Given the description of an element on the screen output the (x, y) to click on. 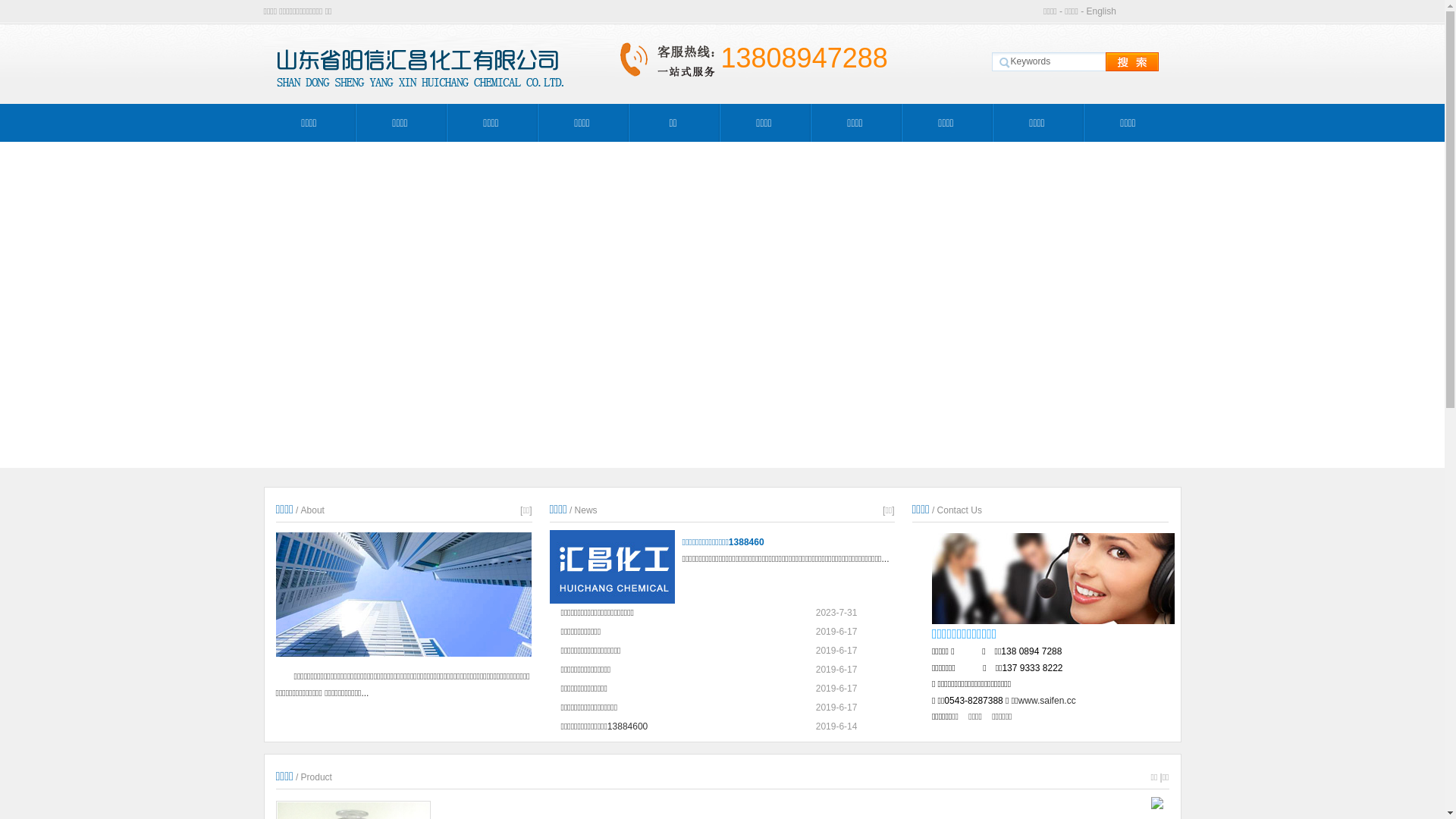
English Element type: text (1101, 11)
  Element type: text (1118, 61)
www.saifen.cc Element type: text (1047, 700)
